Given the description of an element on the screen output the (x, y) to click on. 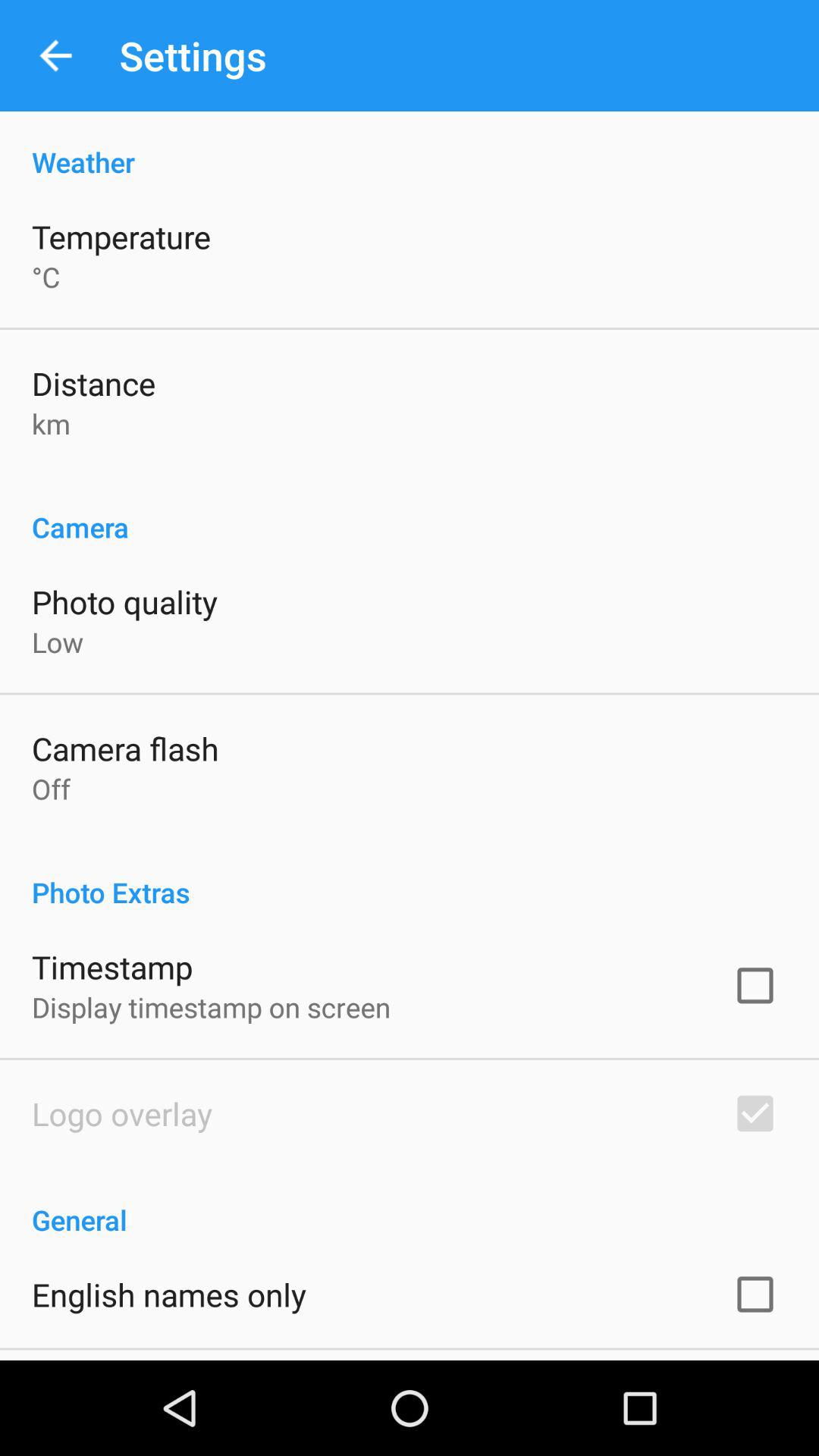
select the km app (50, 423)
